Given the description of an element on the screen output the (x, y) to click on. 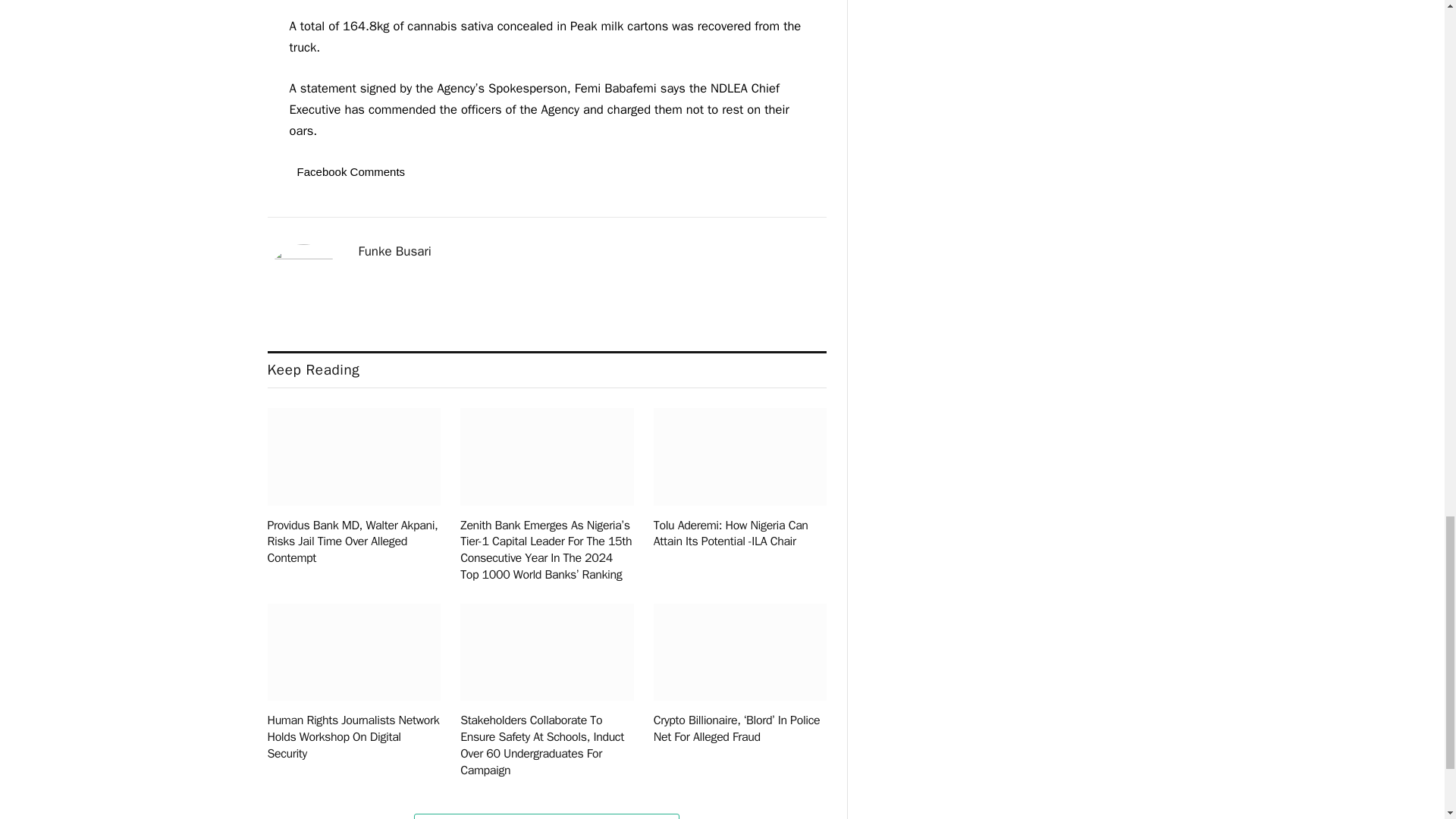
Posts by Funke Busari (394, 251)
